Given the description of an element on the screen output the (x, y) to click on. 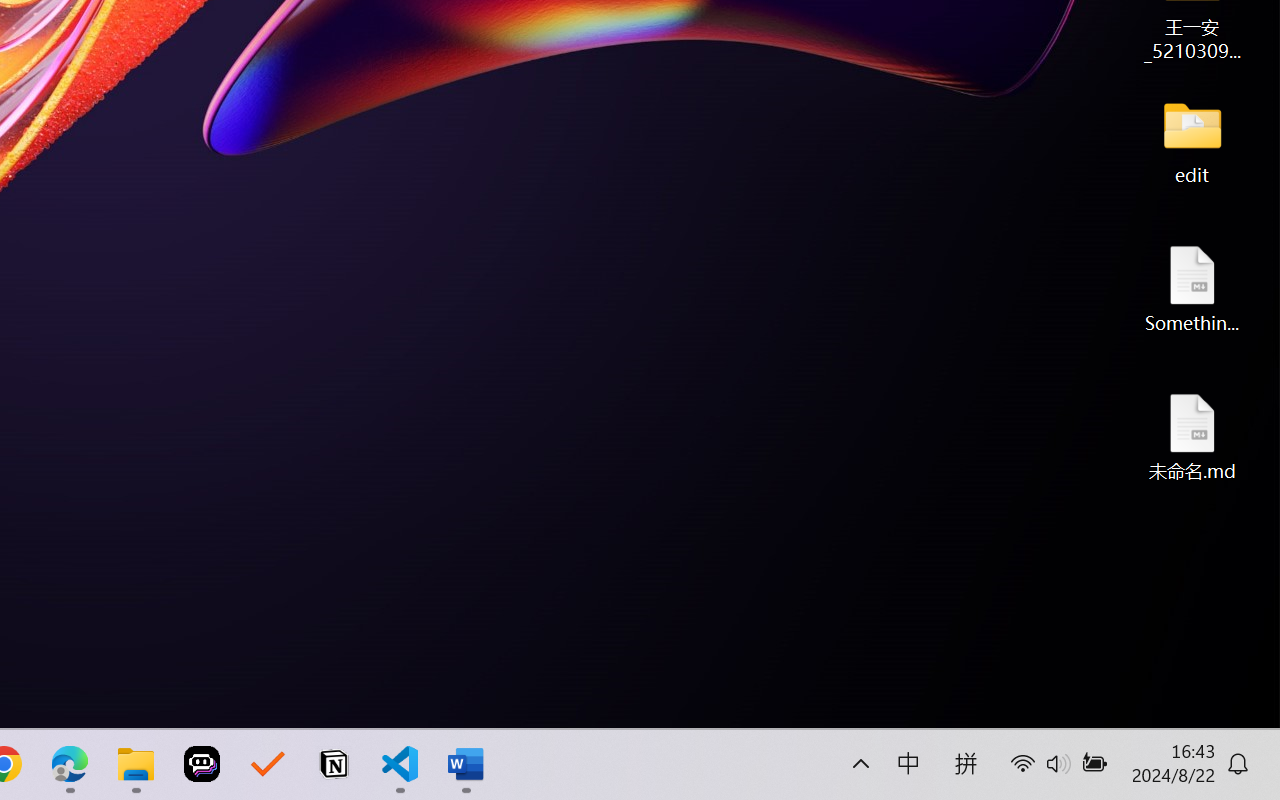
edit (1192, 140)
